Given the description of an element on the screen output the (x, y) to click on. 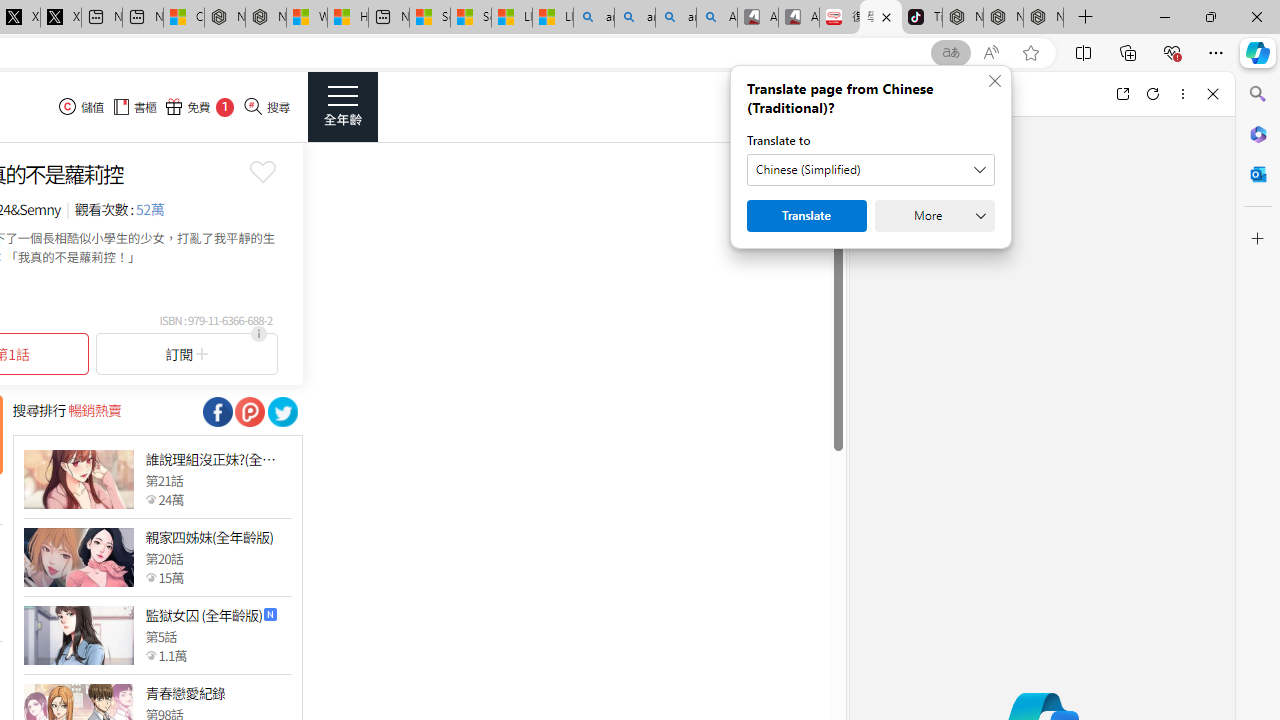
TikTok (922, 17)
